Given the description of an element on the screen output the (x, y) to click on. 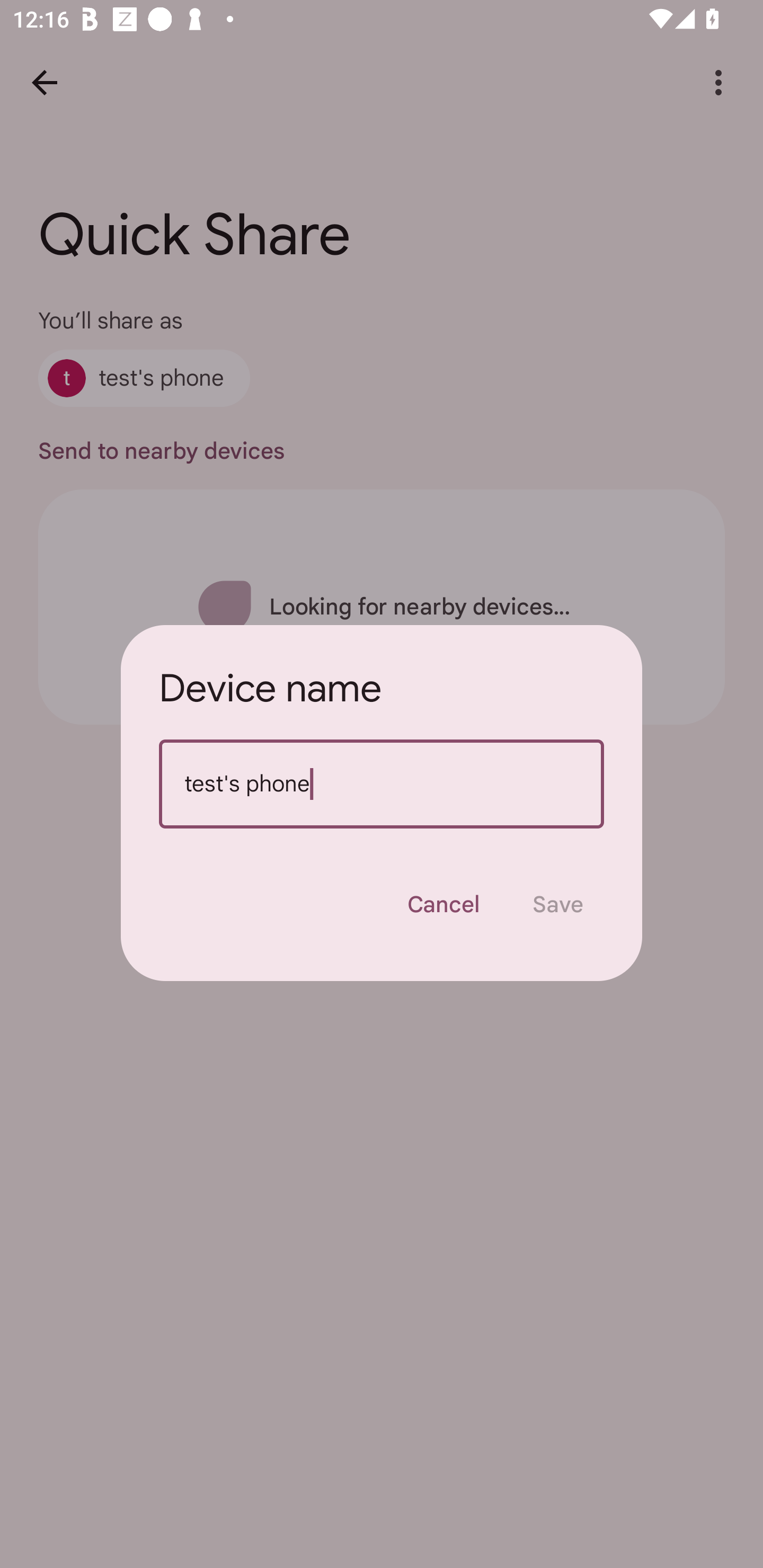
test's phone Device name (381, 783)
Cancel (443, 904)
Save (557, 904)
